Given the description of an element on the screen output the (x, y) to click on. 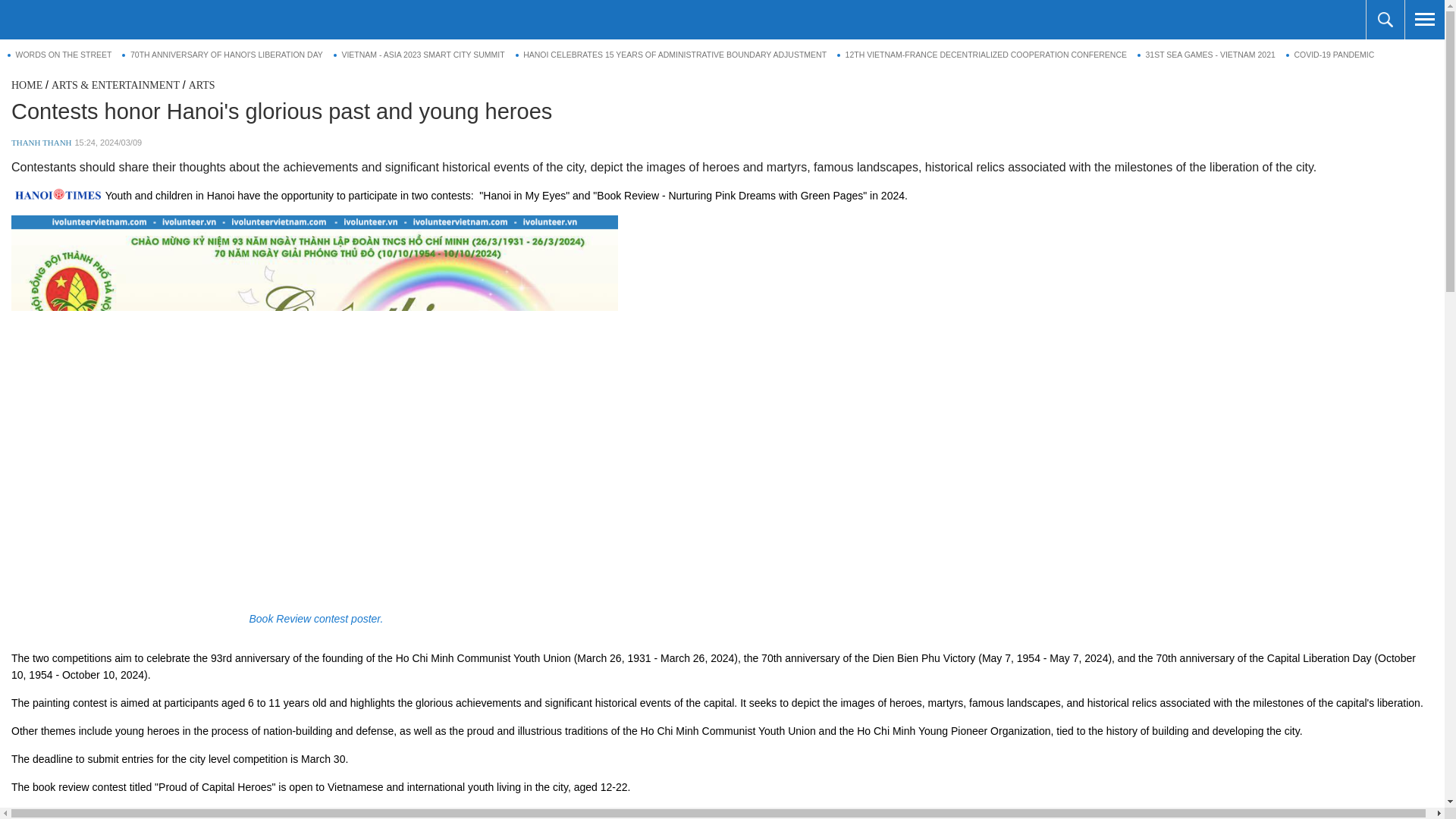
31st Sea Games - Vietnam 2021 (1206, 54)
WORDS ON THE STREET (59, 54)
31ST SEA GAMES - VIETNAM 2021 (1206, 54)
70th anniversary of Hanoi's Liberation Day (221, 54)
Vietnam - Asia 2023 Smart City Summit  (419, 54)
ARTS (202, 85)
12TH VIETNAM-FRANCE DECENTRIALIZED COOPERATION CONFERENCE (981, 54)
COVID-19 PANDEMIC (1329, 54)
WORDS ON THE STREET (59, 54)
